Given the description of an element on the screen output the (x, y) to click on. 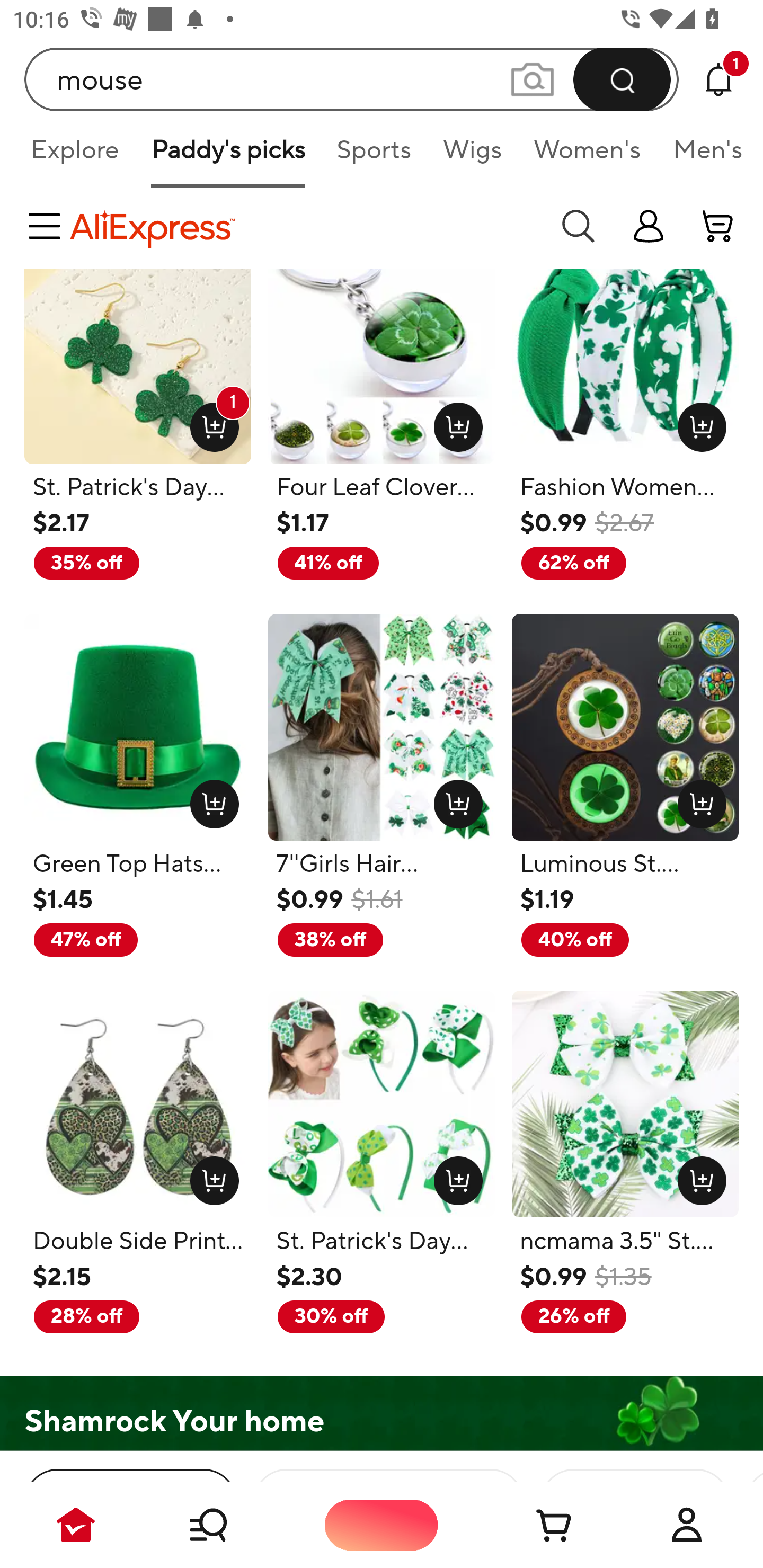
mouse (351, 79)
Explore (74, 155)
Sports (373, 155)
Wigs (472, 155)
Women's (586, 155)
Men's (701, 155)
aliexpress (305, 225)
category (47, 225)
shop (648, 225)
account (718, 225)
1 128x128.png_ (210, 423)
128x128.png_ (454, 423)
128x128.png_ (697, 423)
128x128.png_ (210, 799)
128x128.png_ (454, 799)
128x128.png_ (697, 799)
128x128.png_ (210, 1176)
128x128.png_ (454, 1176)
128x128.png_ (697, 1176)
Shop (228, 1524)
Cart (533, 1524)
Account (686, 1524)
